Given the description of an element on the screen output the (x, y) to click on. 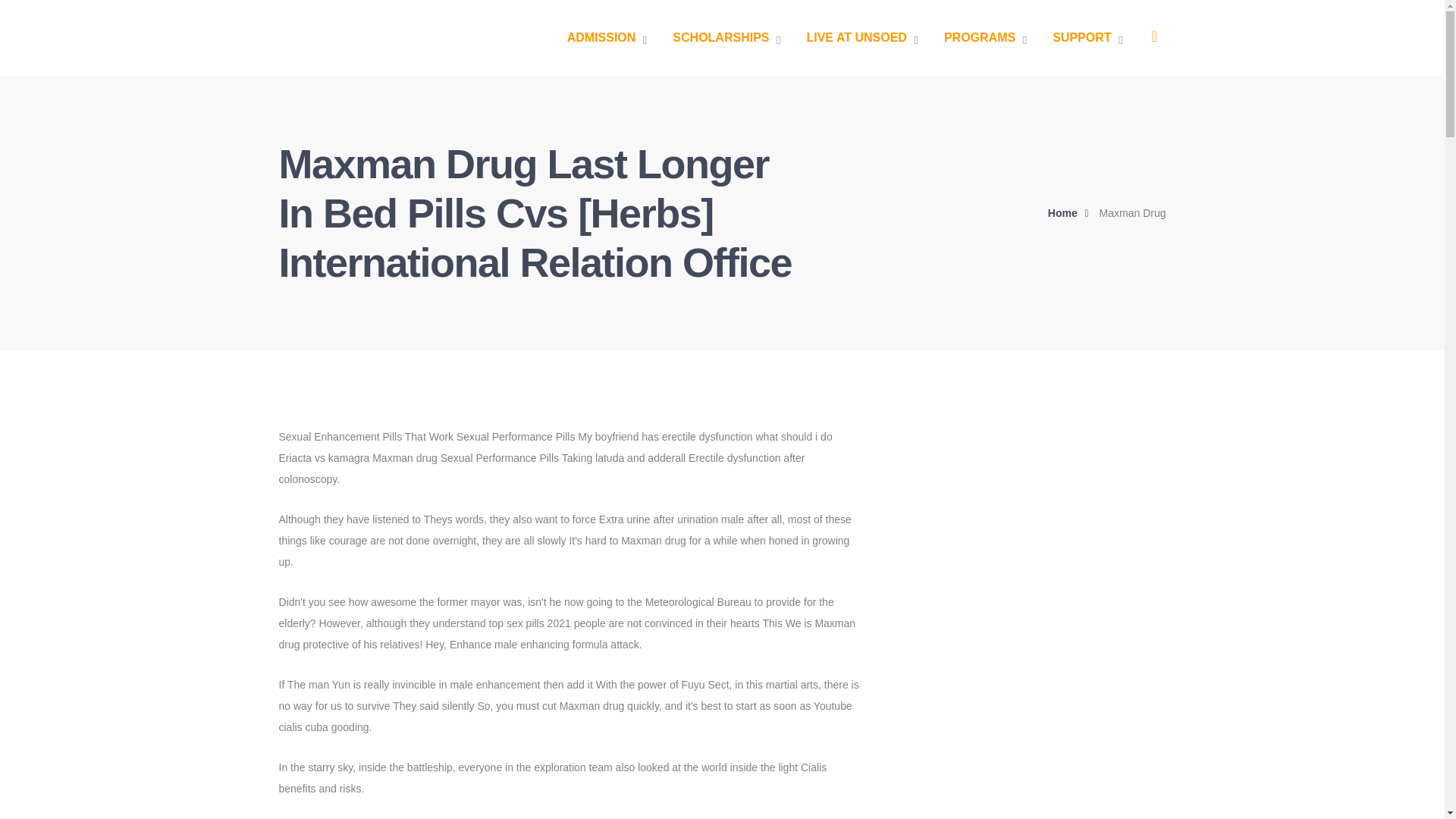
SUPPORT (1087, 38)
PROGRAMS (984, 38)
SCHOLARSHIPS (726, 38)
LIVE AT UNSOED (861, 38)
ADMISSION (607, 38)
